Given the description of an element on the screen output the (x, y) to click on. 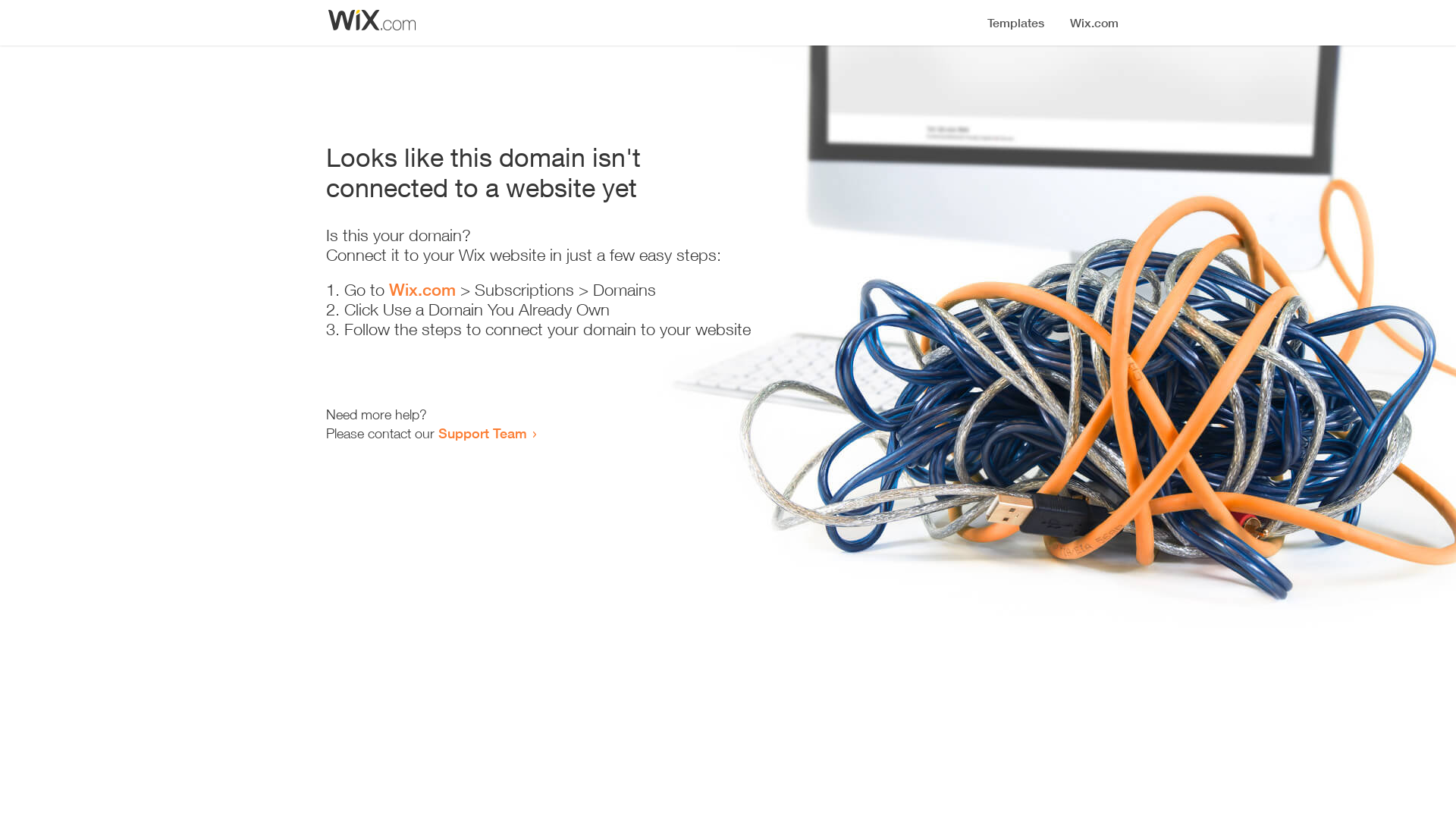
Support Team Element type: text (482, 432)
Wix.com Element type: text (422, 289)
